Given the description of an element on the screen output the (x, y) to click on. 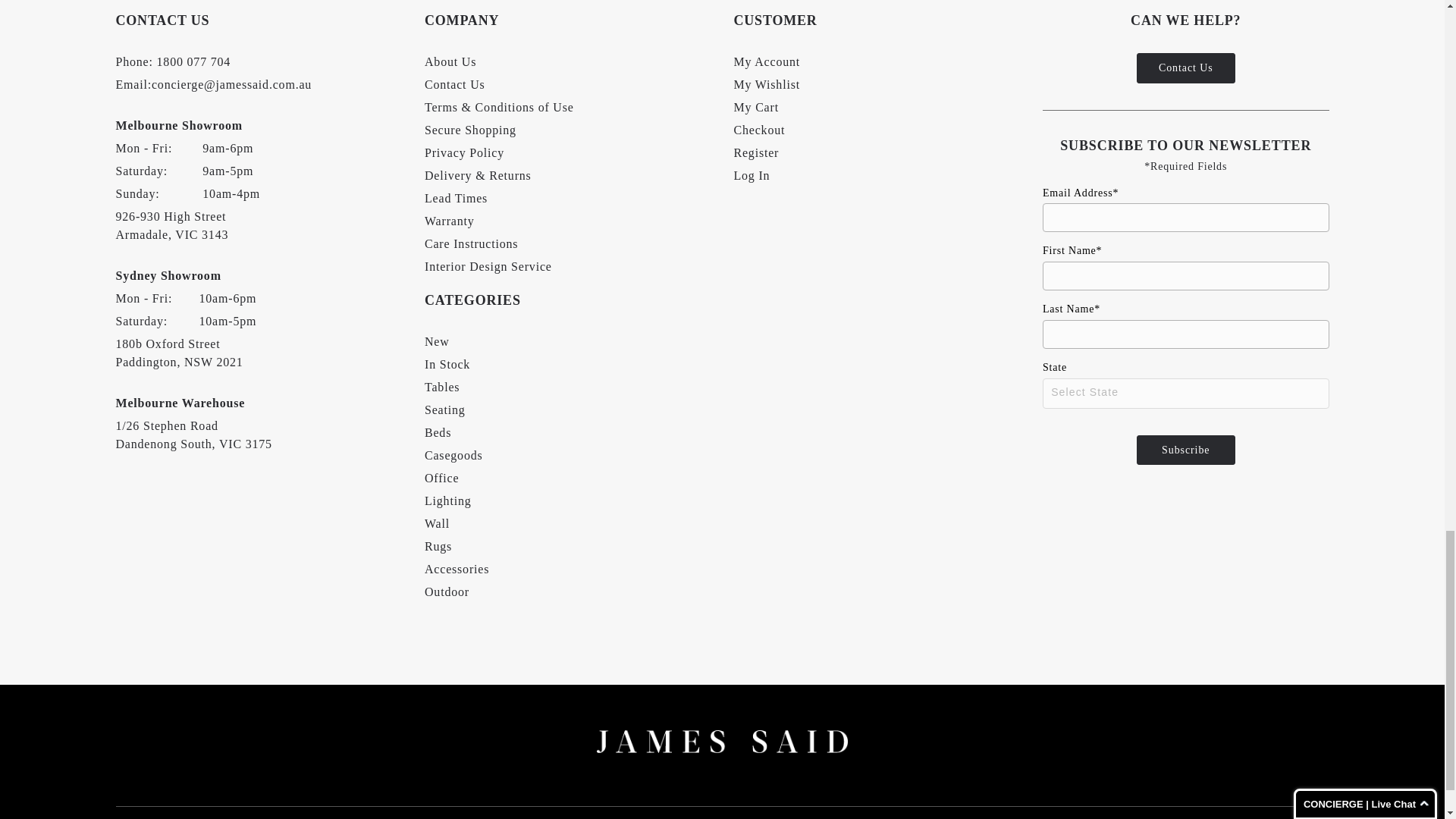
Subscribe (1185, 450)
